Given the description of an element on the screen output the (x, y) to click on. 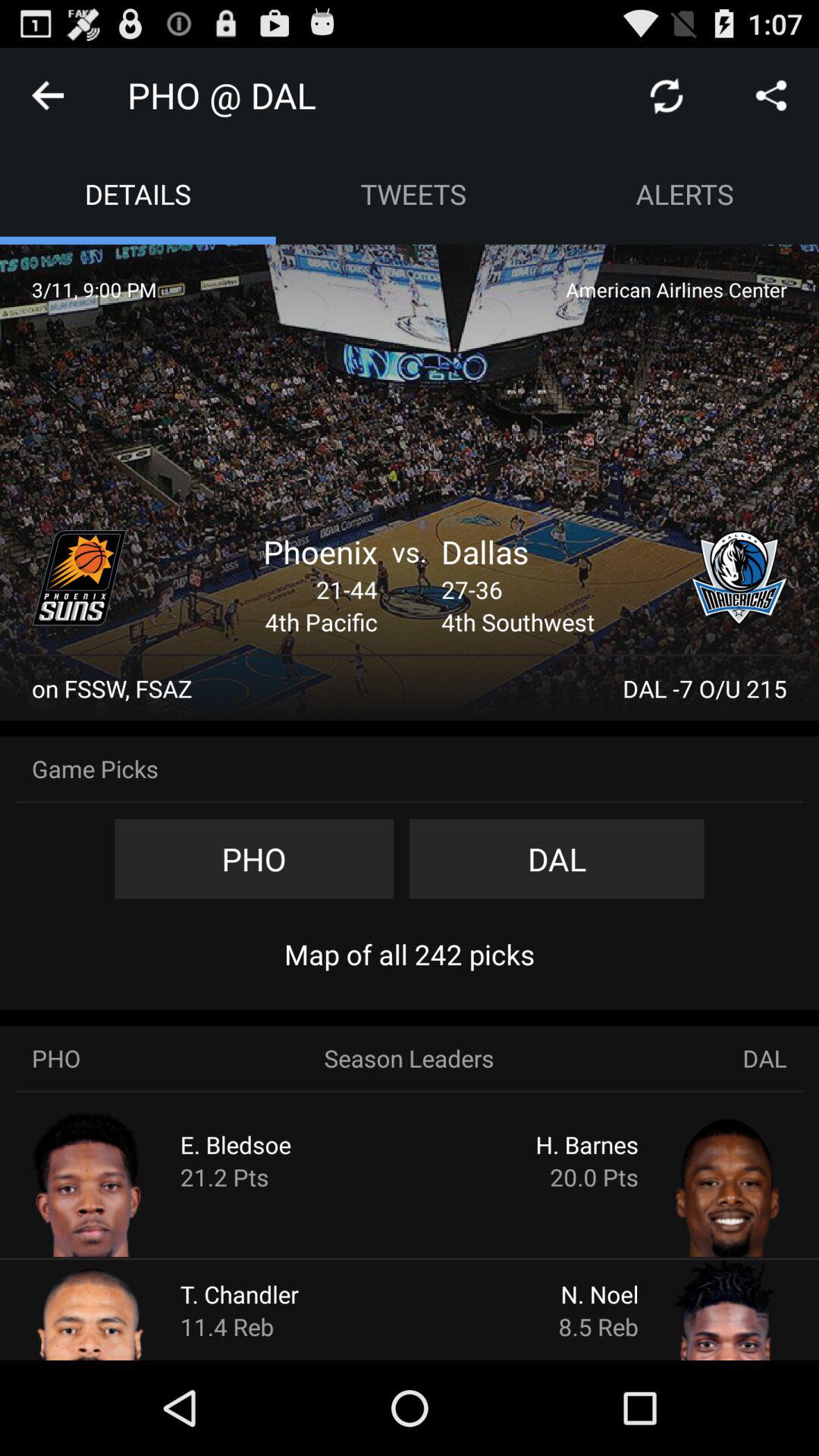
refresh page (666, 95)
